Given the description of an element on the screen output the (x, y) to click on. 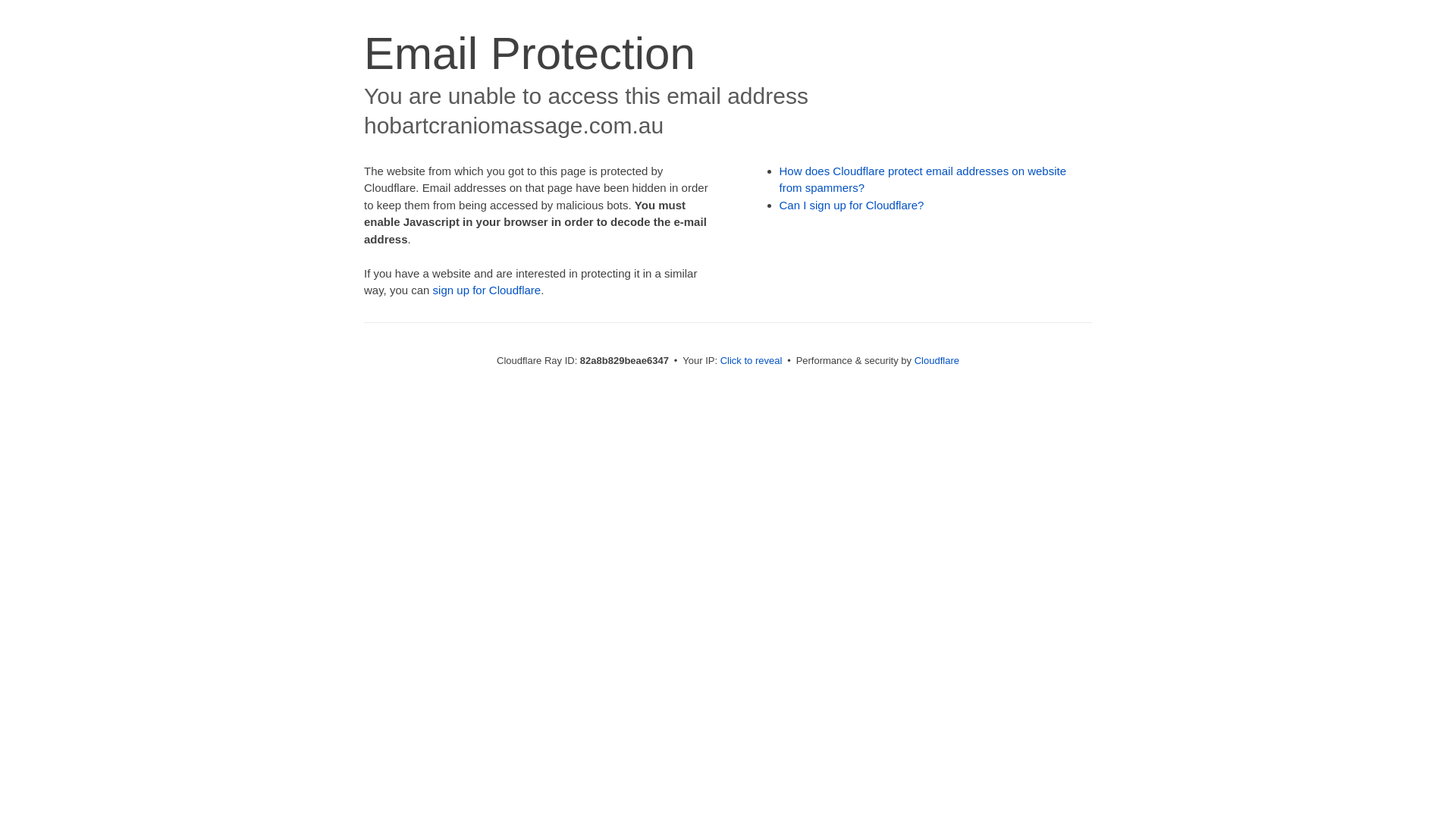
Cloudflare Element type: text (936, 360)
sign up for Cloudflare Element type: text (487, 289)
Click to reveal Element type: text (751, 360)
Can I sign up for Cloudflare? Element type: text (851, 204)
